Given the description of an element on the screen output the (x, y) to click on. 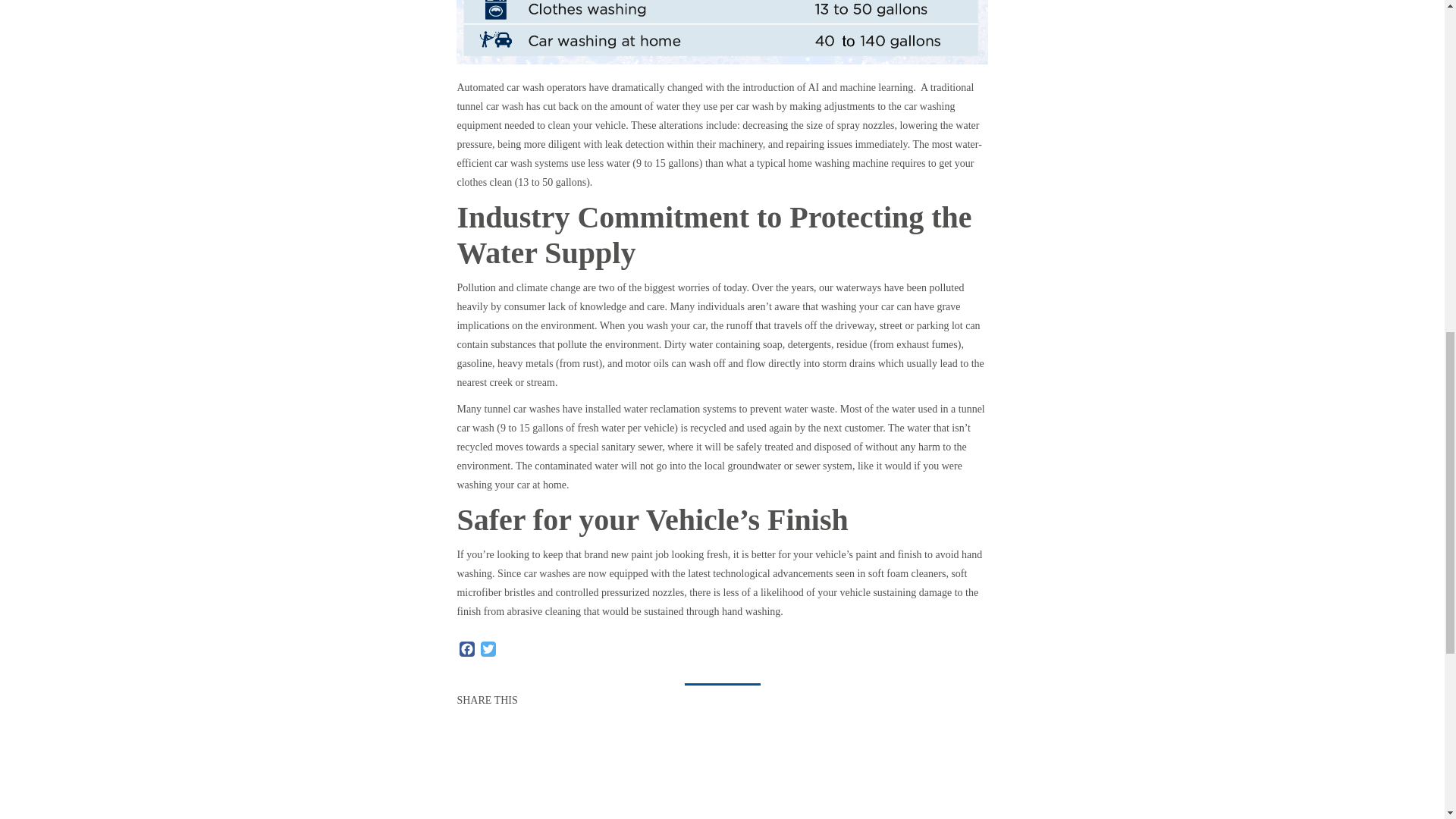
Facebook (467, 648)
Twitter (488, 648)
Twitter (488, 648)
Facebook (467, 648)
